Given the description of an element on the screen output the (x, y) to click on. 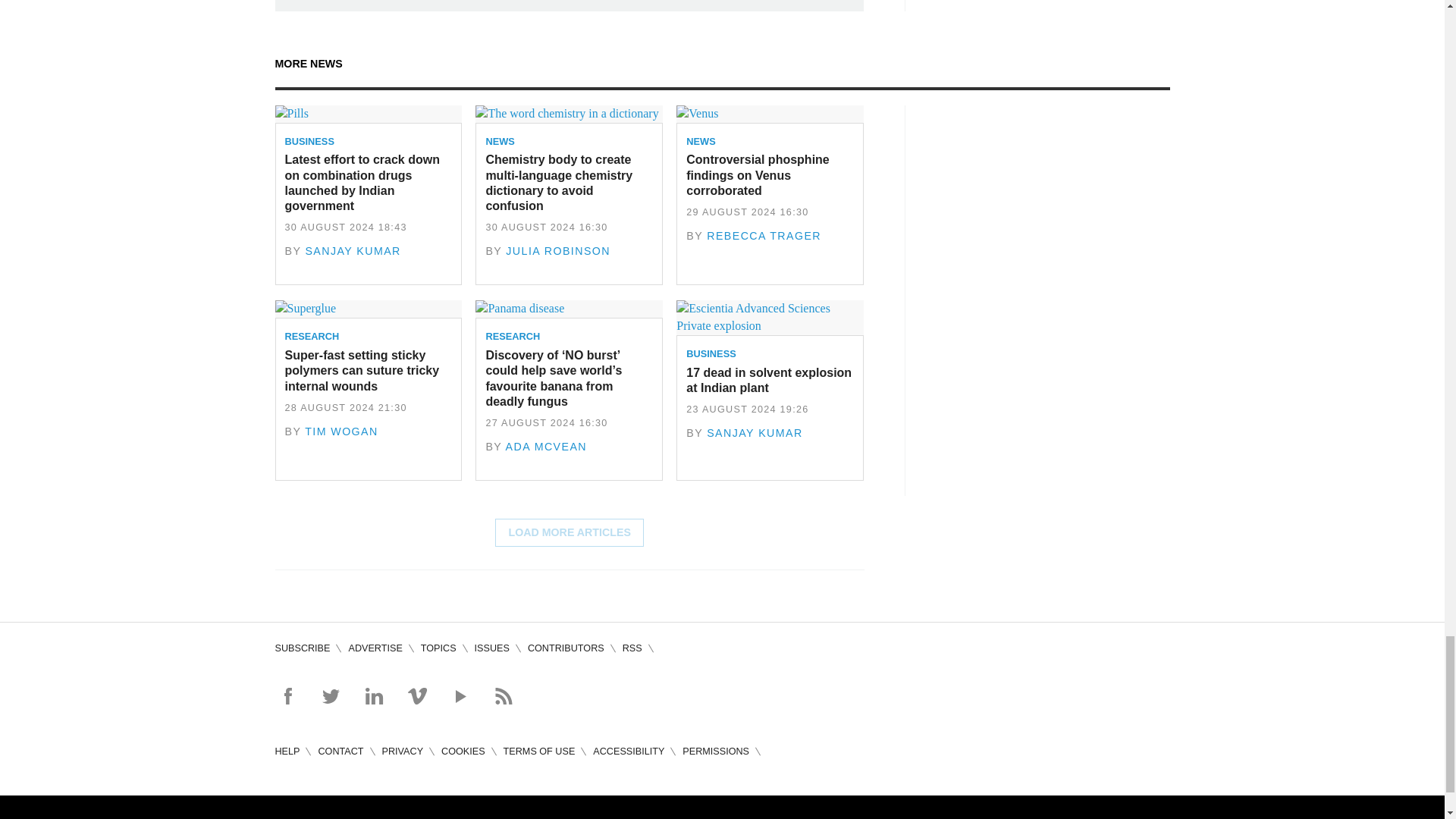
Connect on Linked in (373, 695)
Follow on Facebook (287, 695)
Follow on Twitter (330, 695)
Watch on Vimeo (416, 695)
